Given the description of an element on the screen output the (x, y) to click on. 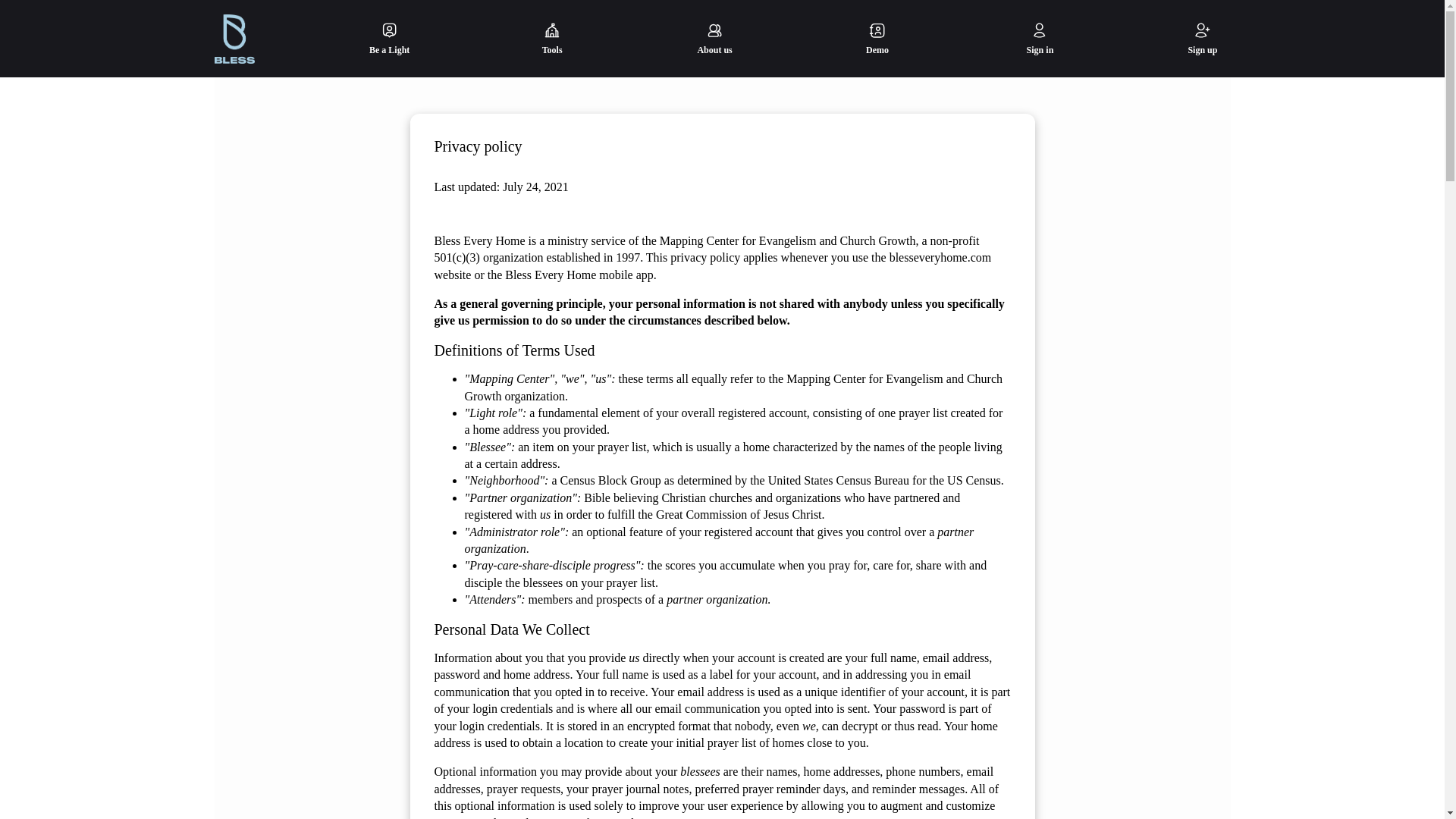
Tools (551, 38)
Sign in (1039, 38)
Be a Light (388, 38)
Sign up (1202, 38)
About us (714, 38)
Demo (877, 38)
